Given the description of an element on the screen output the (x, y) to click on. 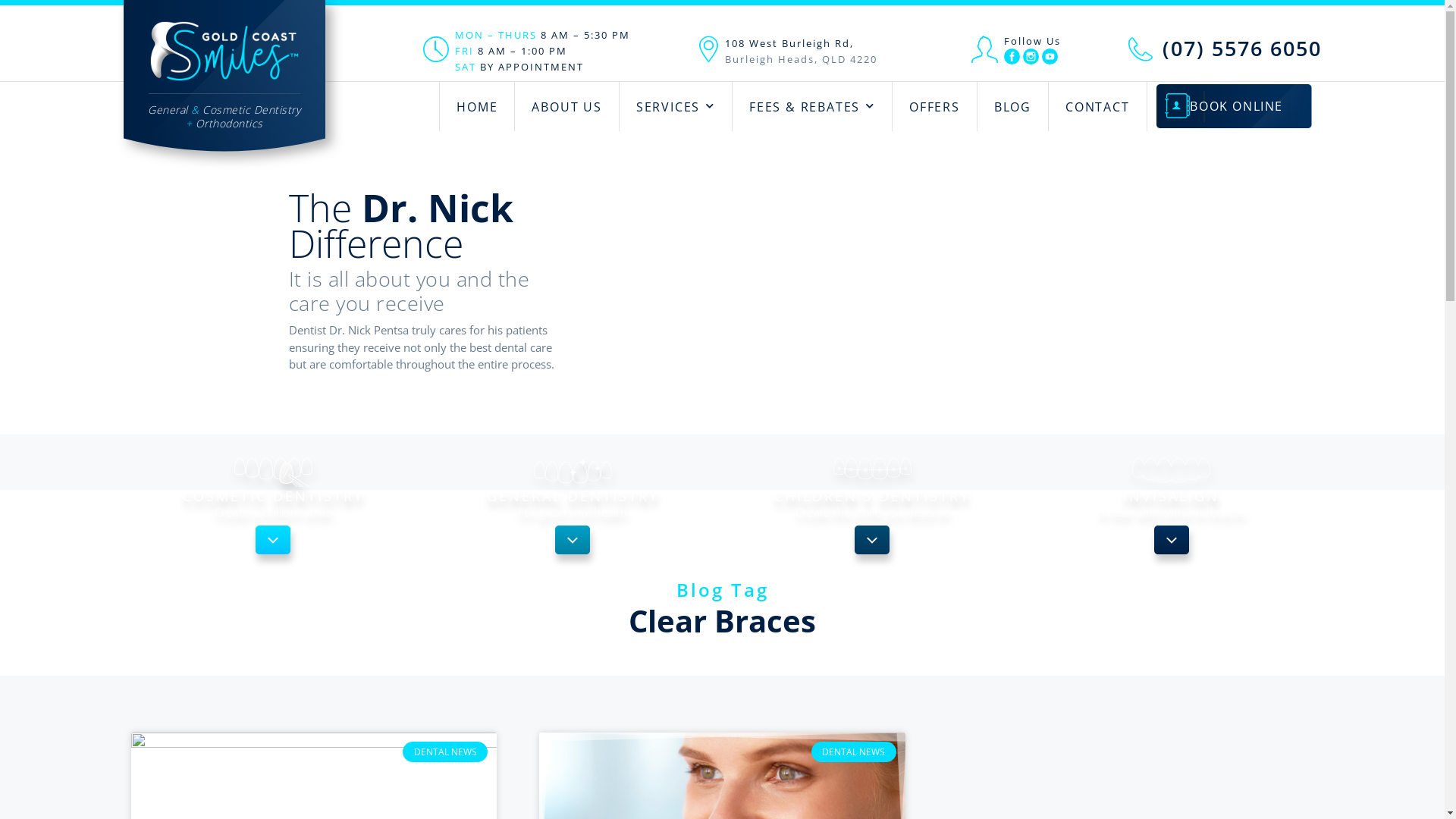
INVISALIGN
A clear alternative to braces Element type: text (1171, 493)
108 West Burleigh Rd,
Burleigh Heads, QLD 4220 Element type: text (800, 50)
SERVICES Element type: text (675, 106)
FEES & REBATES Element type: text (811, 106)
CHILDREN'S DENTISTRY
Create the smile you deserve Element type: text (871, 493)
OFFERS Element type: text (934, 106)
BLOG Element type: text (1012, 106)
CONTACT Element type: text (1097, 106)
HOME Element type: text (476, 106)
GENERAL DENTISTRY
For good oral health Element type: text (572, 493)
COSMETIC DENTISTRY
Create a brilliant smile Element type: text (272, 493)
(07) 5576 6050 Element type: text (1241, 48)
BOOK ONLINE Element type: text (1223, 106)
ABOUT US Element type: text (566, 106)
